Given the description of an element on the screen output the (x, y) to click on. 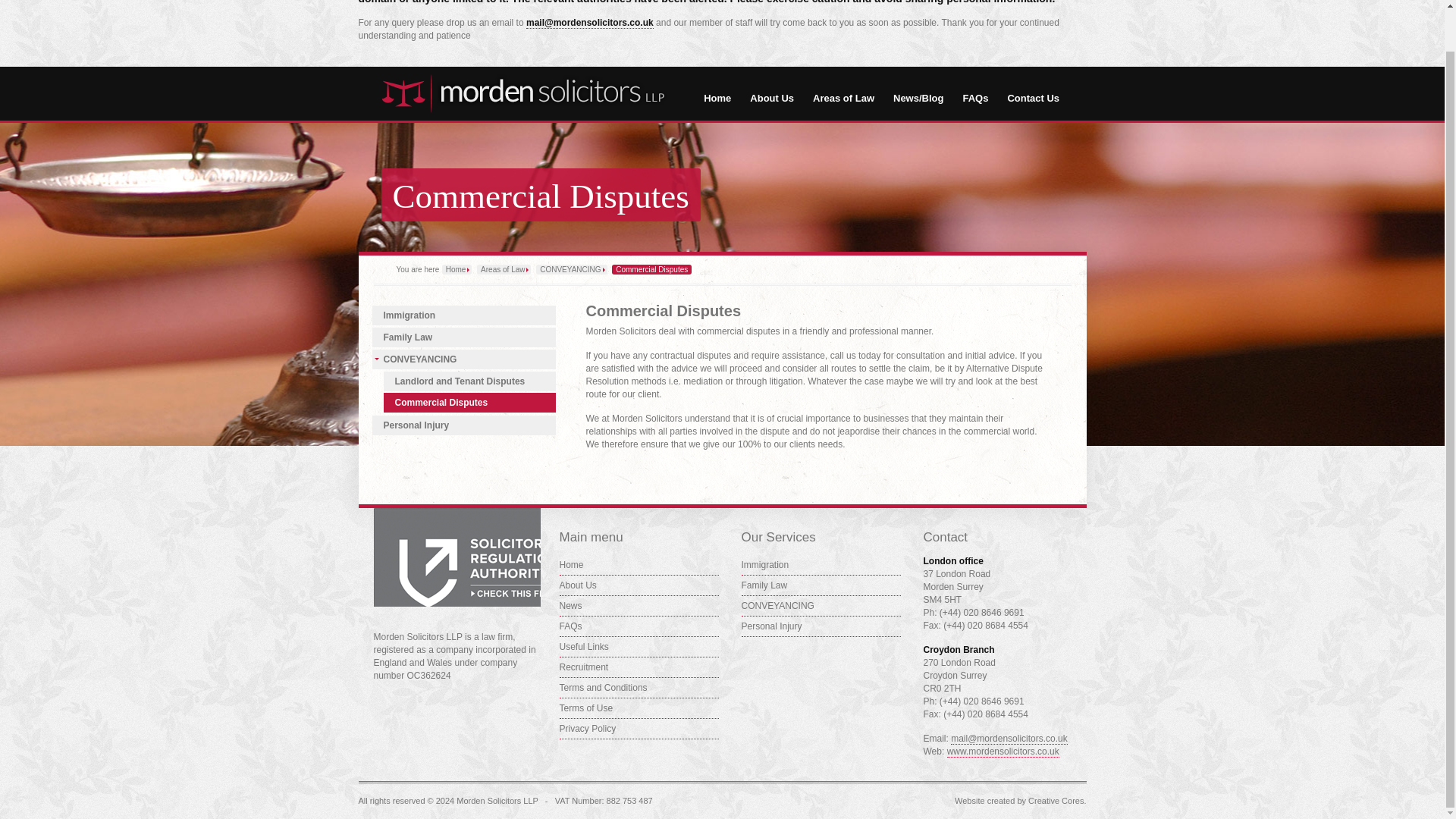
FAQs (975, 98)
Contact Us (1033, 98)
Home (716, 98)
Areas of Law (843, 98)
Home (639, 565)
Family Law (462, 337)
About Us (771, 98)
Home (456, 269)
CONVEYANCING (571, 269)
About Us (639, 585)
Immigration (462, 315)
CONVEYANCING (462, 359)
Landlord and Tenant Disputes (470, 381)
Personal Injury (462, 424)
Areas of Law (504, 269)
